Given the description of an element on the screen output the (x, y) to click on. 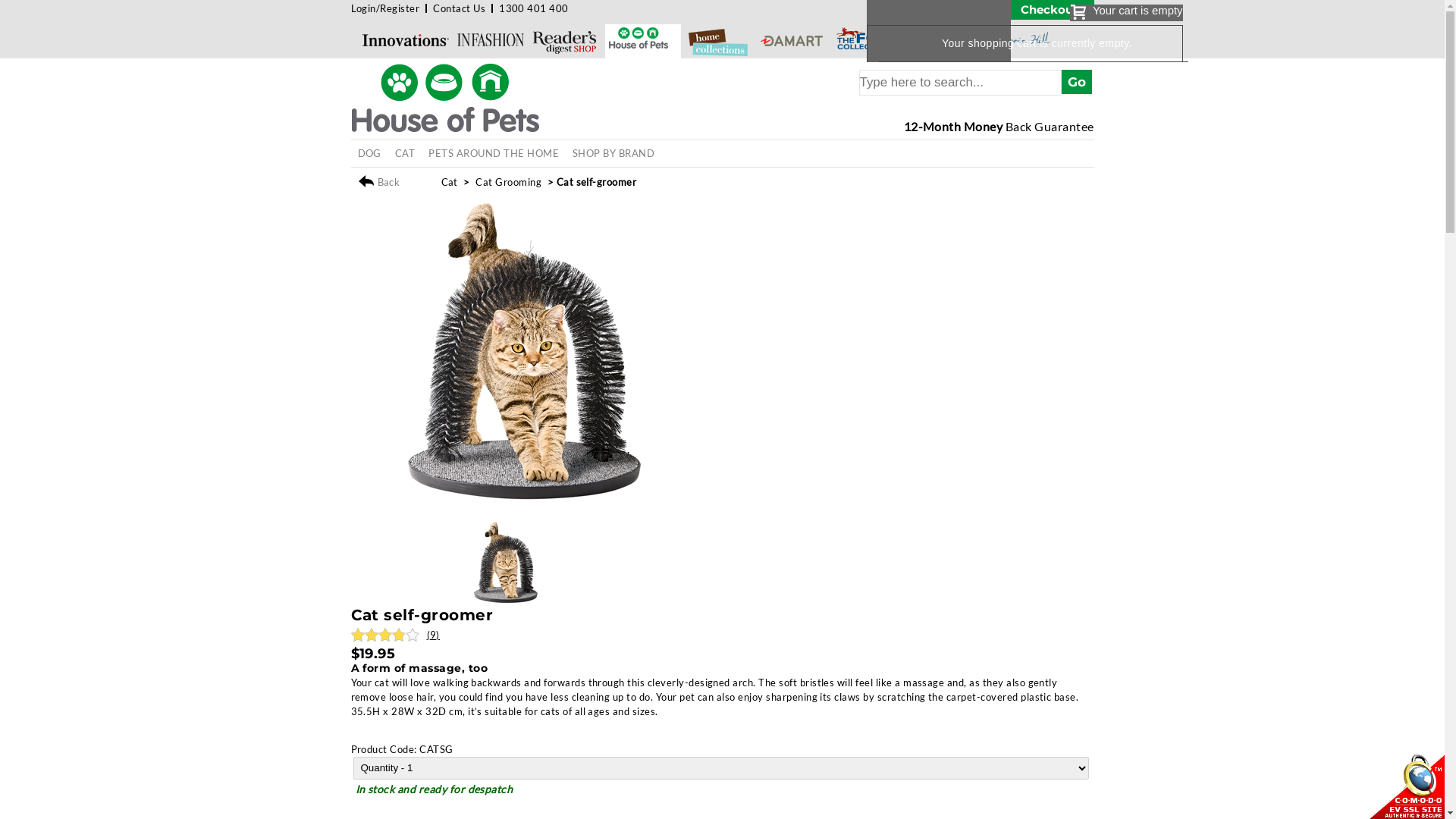
Go Element type: text (1076, 81)
CAT Element type: text (404, 153)
SHOP BY BRAND Element type: text (613, 153)
Cat Grooming Element type: text (507, 181)
Contact Us Element type: text (459, 8)
PETS AROUND THE HOME Element type: text (493, 153)
(9) Element type: text (428, 634)
Your cart is empty Element type: text (1126, 12)
Back Element type: text (397, 182)
Checkout > Element type: text (1051, 9)
Login/Register Element type: text (384, 8)
DOG Element type: text (368, 153)
Cat Element type: text (449, 181)
